Given the description of an element on the screen output the (x, y) to click on. 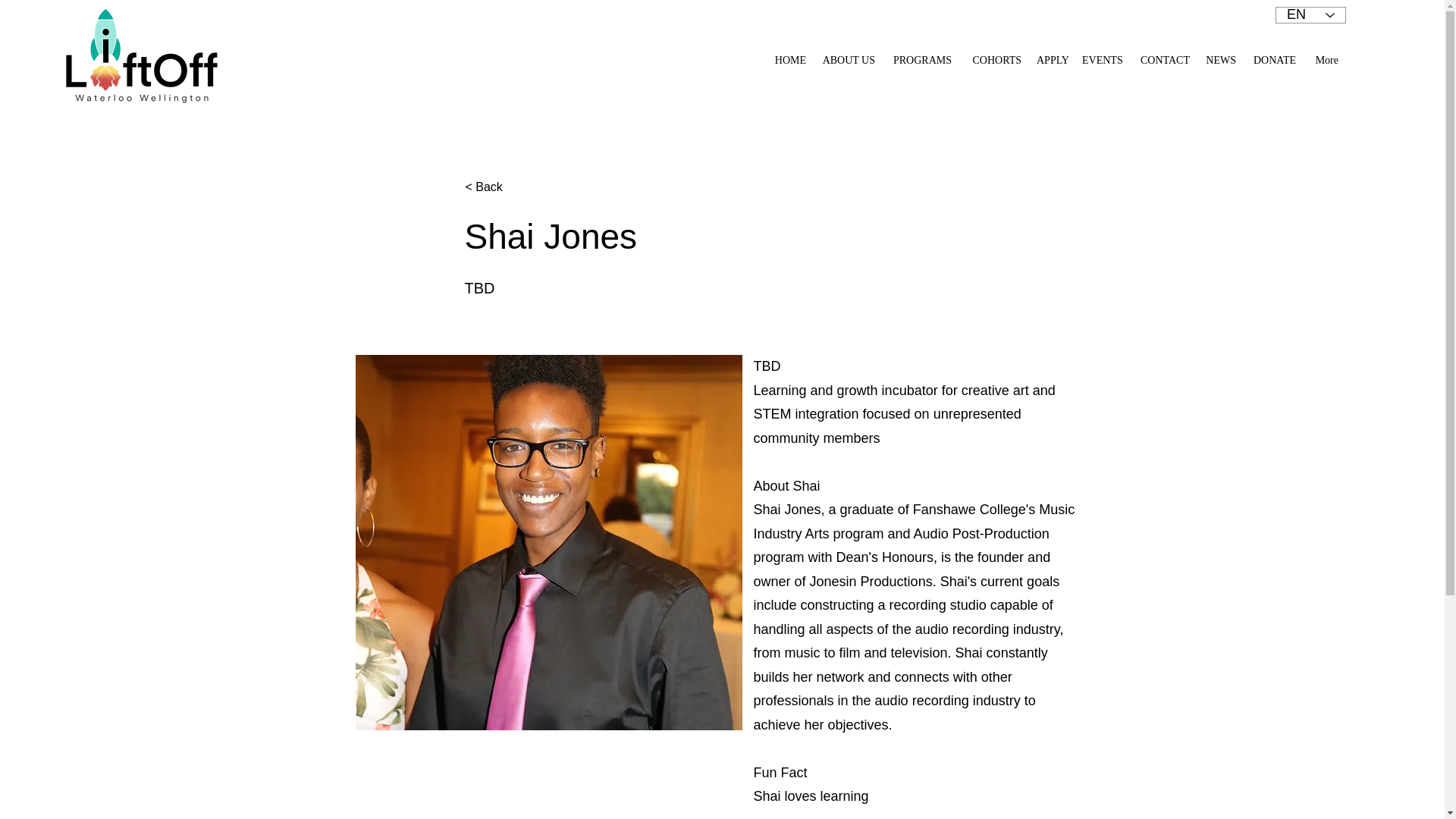
NEWS (1219, 60)
DONATE (1273, 60)
EVENTS (1101, 60)
ABOUT US (847, 60)
HOME (788, 60)
CONTACT (1162, 60)
